Given the description of an element on the screen output the (x, y) to click on. 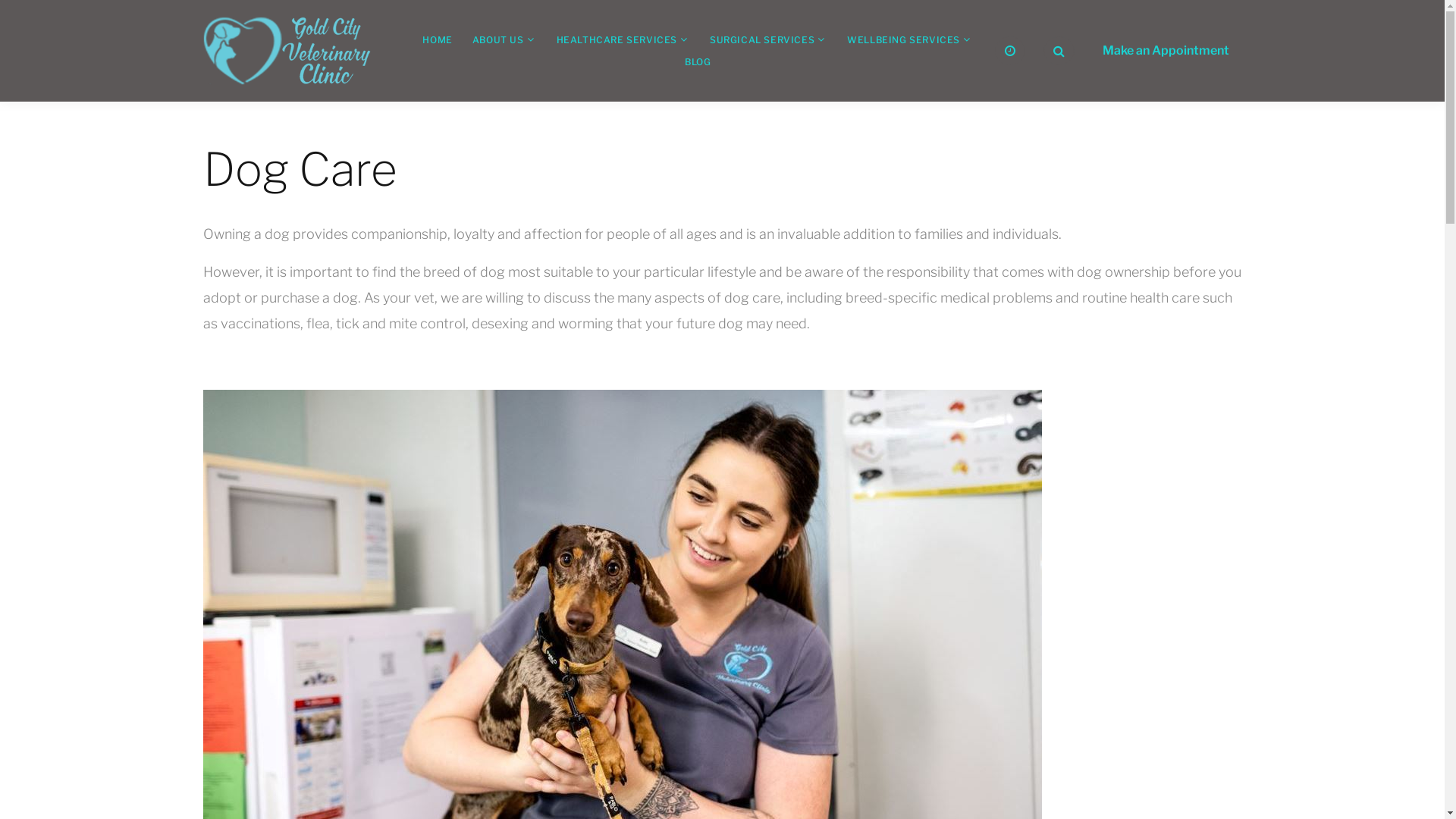
WELLBEING SERVICES Element type: text (903, 39)
SURGICAL SERVICES Element type: text (761, 39)
HEALTHCARE SERVICES Element type: text (616, 39)
BLOG Element type: text (697, 61)
HOME Element type: text (436, 39)
Make an Appointment Element type: text (1165, 50)
ABOUT US Element type: text (498, 39)
